Given the description of an element on the screen output the (x, y) to click on. 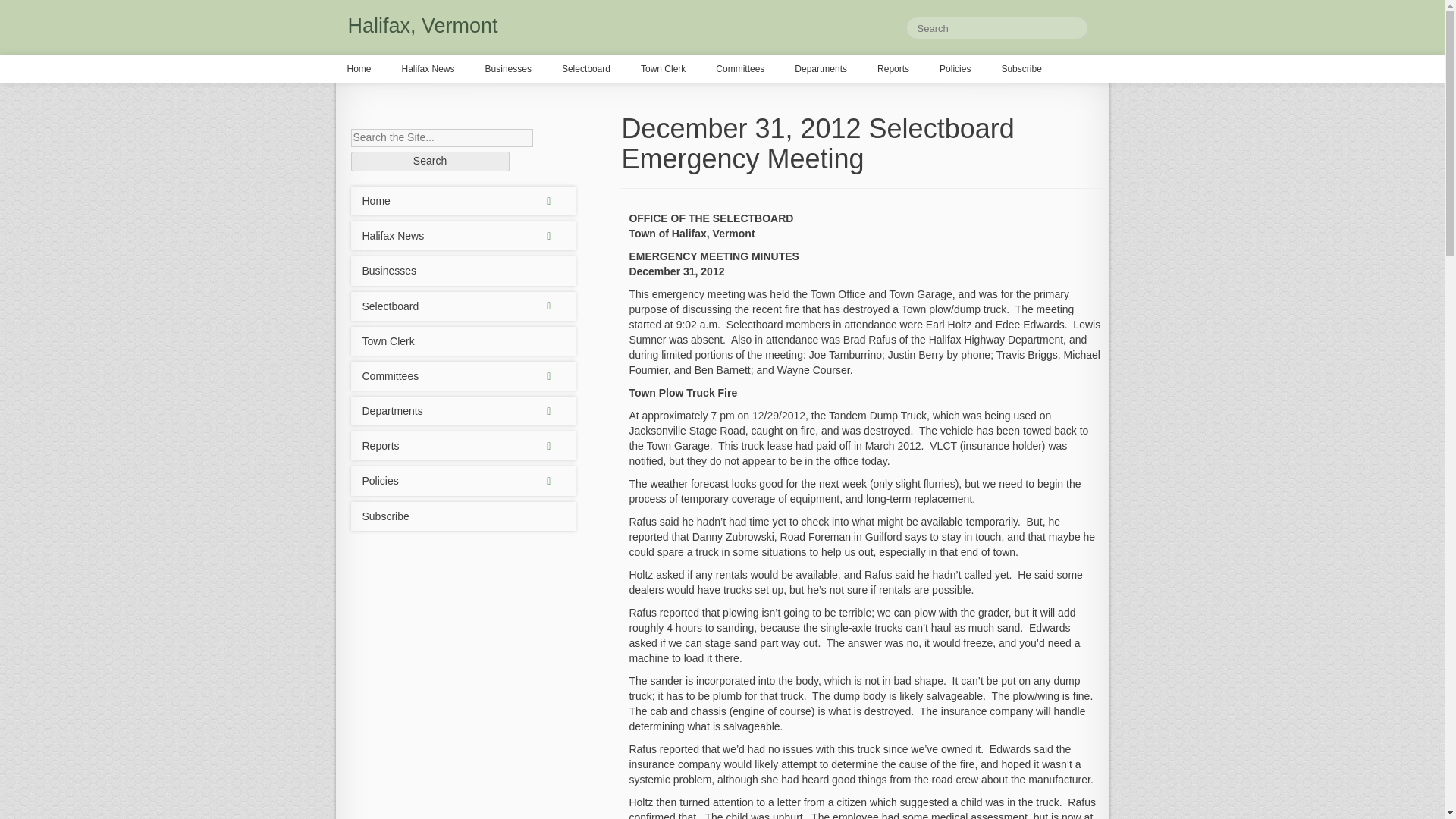
Businesses (462, 270)
Halifax, Vermont (422, 25)
Search (429, 161)
Town Clerk (462, 340)
Home (462, 200)
Committees (462, 375)
Halifax News (462, 235)
Halifax, Vermont (422, 25)
Search (429, 161)
Departments (462, 410)
